Given the description of an element on the screen output the (x, y) to click on. 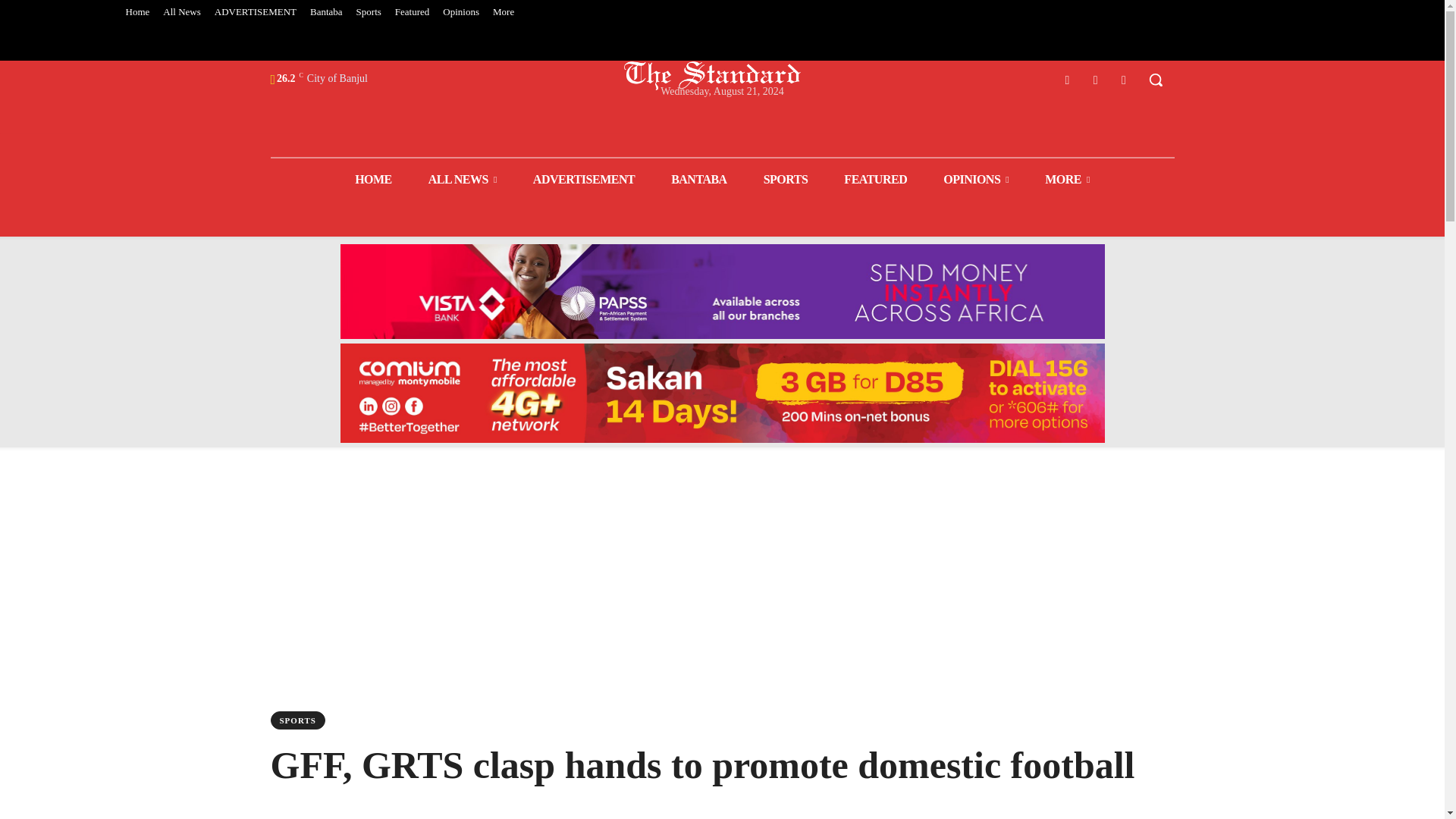
Sports (368, 12)
Twitter (1094, 79)
Home (136, 12)
Bantaba (325, 12)
Facebook (1067, 79)
HOME (373, 178)
More (503, 12)
ADVERTISEMENT (255, 12)
Youtube (1123, 79)
Featured (411, 12)
